Given the description of an element on the screen output the (x, y) to click on. 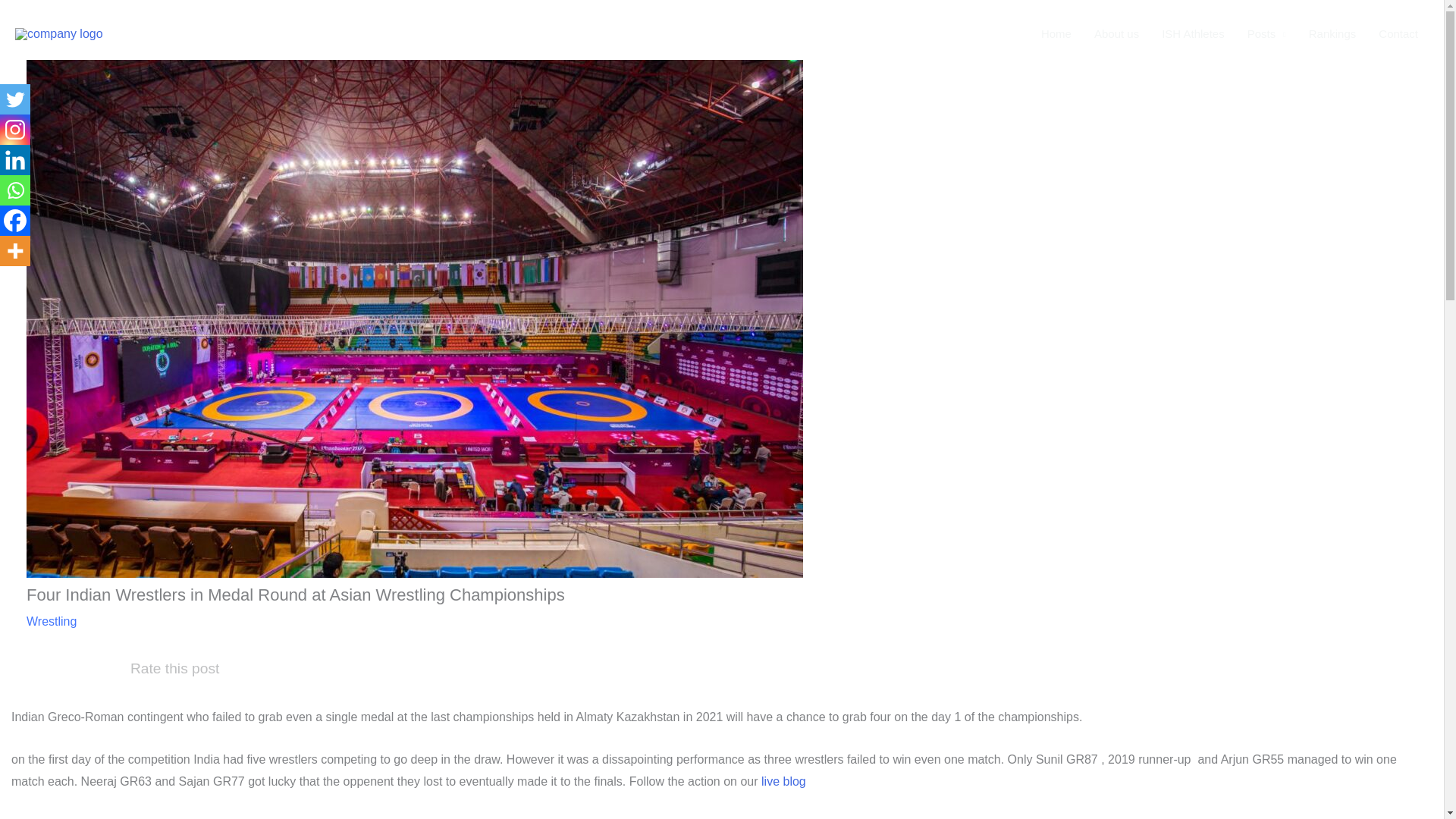
Twitter (15, 99)
Home (1056, 33)
Contact (1398, 33)
Facebook (15, 220)
More (15, 250)
Whatsapp (15, 190)
Rankings (1332, 33)
About us (1116, 33)
Instagram (15, 129)
Posts (1266, 33)
ISH Athletes (1193, 33)
Linkedin (15, 159)
